Given the description of an element on the screen output the (x, y) to click on. 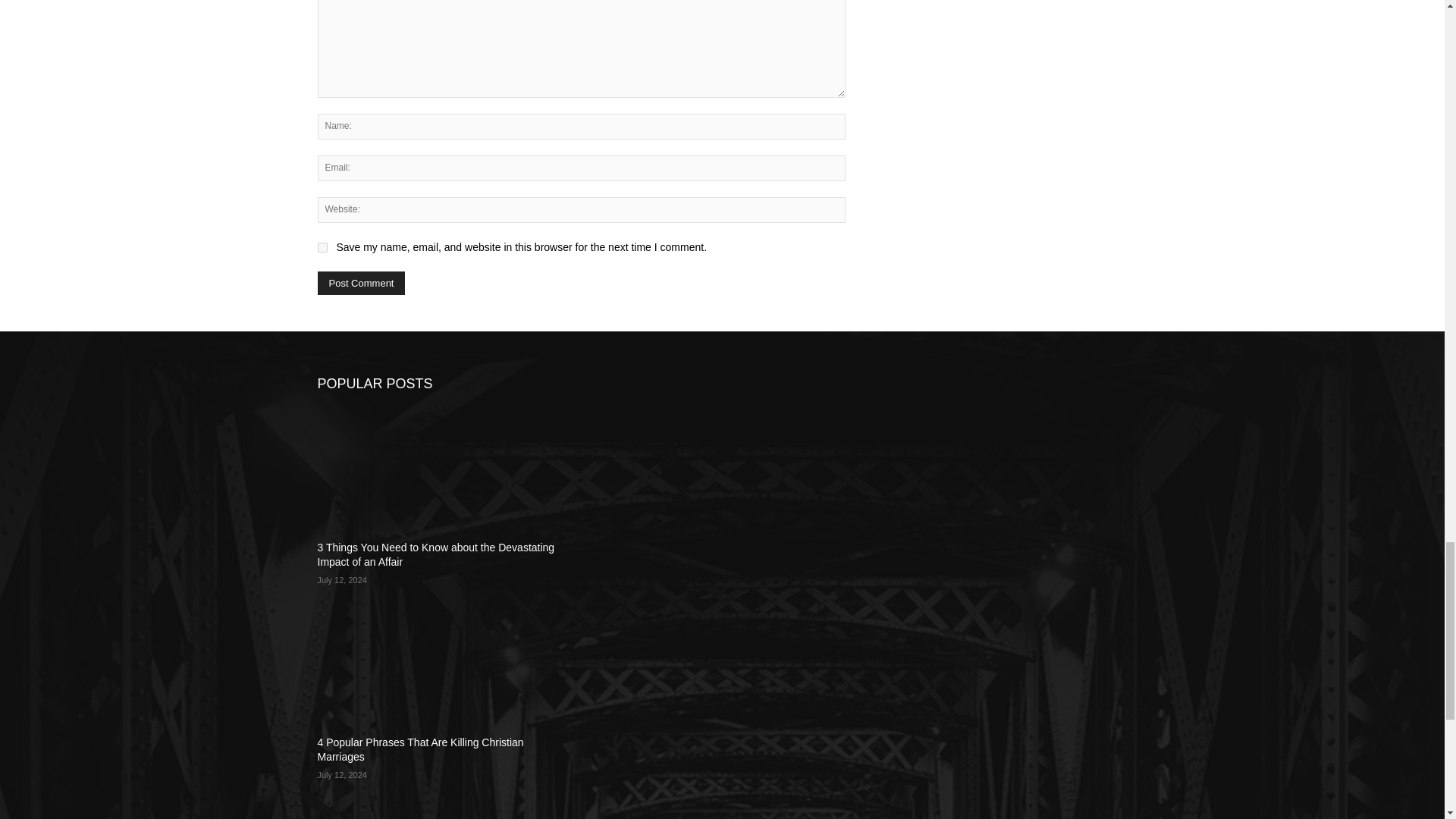
Post Comment (360, 282)
yes (321, 247)
